Given the description of an element on the screen output the (x, y) to click on. 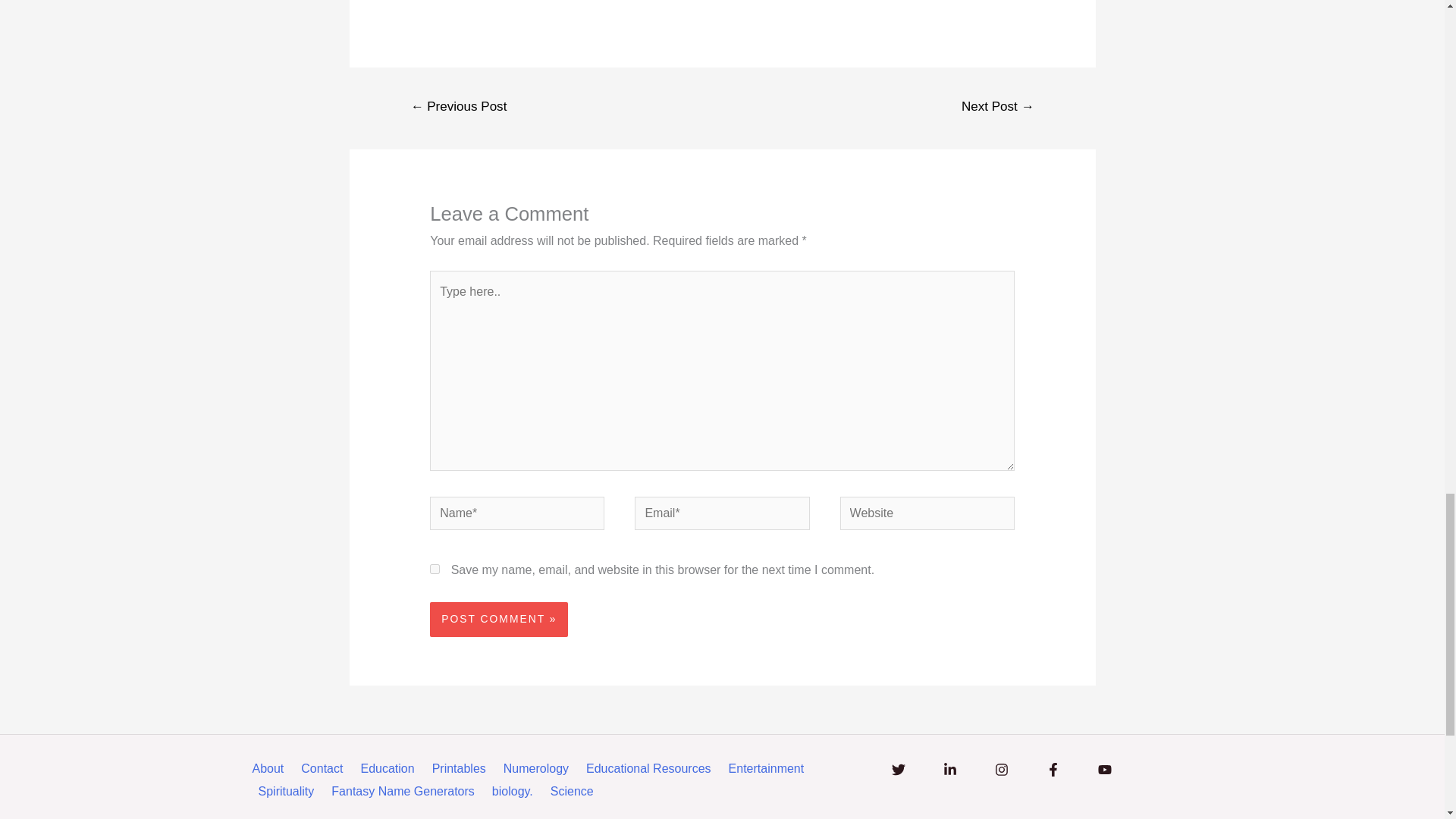
yes (434, 569)
